Given the description of an element on the screen output the (x, y) to click on. 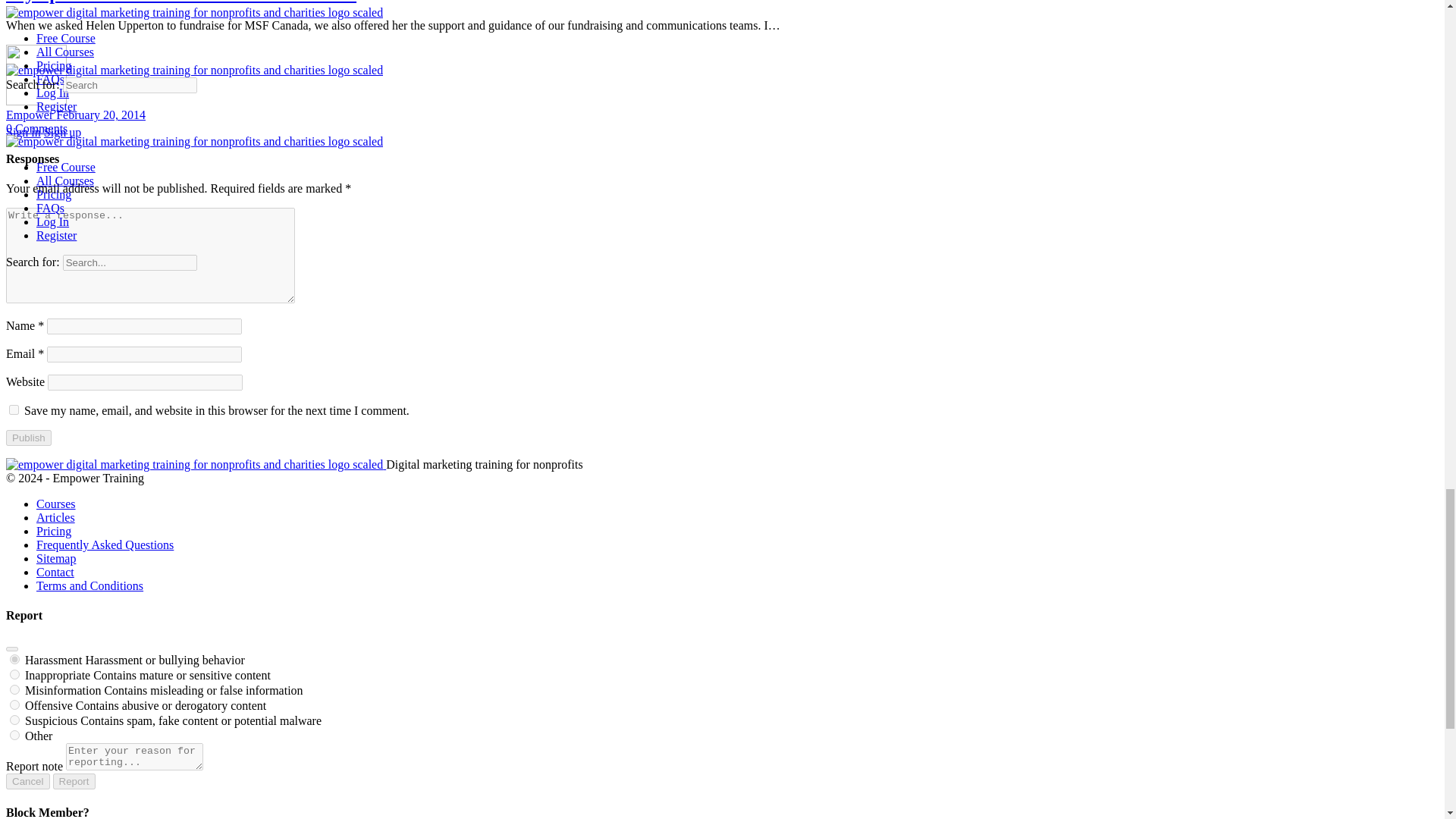
Cancel (27, 781)
other (15, 735)
268 (15, 674)
Publish (27, 437)
269 (15, 689)
yes (13, 409)
271 (15, 659)
270 (15, 719)
267 (15, 705)
